Given the description of an element on the screen output the (x, y) to click on. 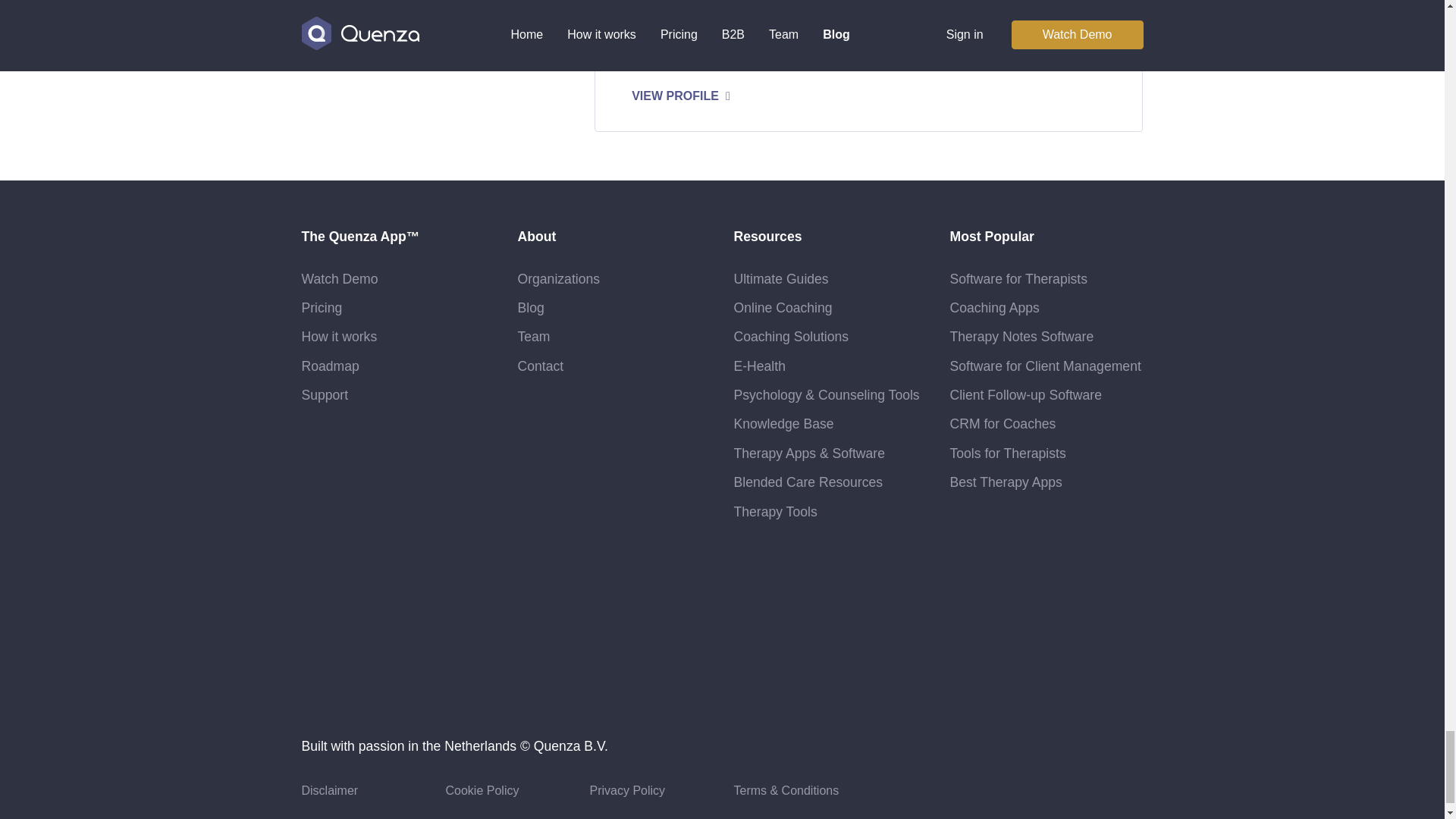
Blog (529, 307)
Organizations (557, 278)
VIEW PROFILE (684, 95)
How it works (339, 336)
Pricing (321, 307)
Watch Demo (339, 278)
Team (533, 336)
Roadmap (330, 365)
Support (325, 394)
